Given the description of an element on the screen output the (x, y) to click on. 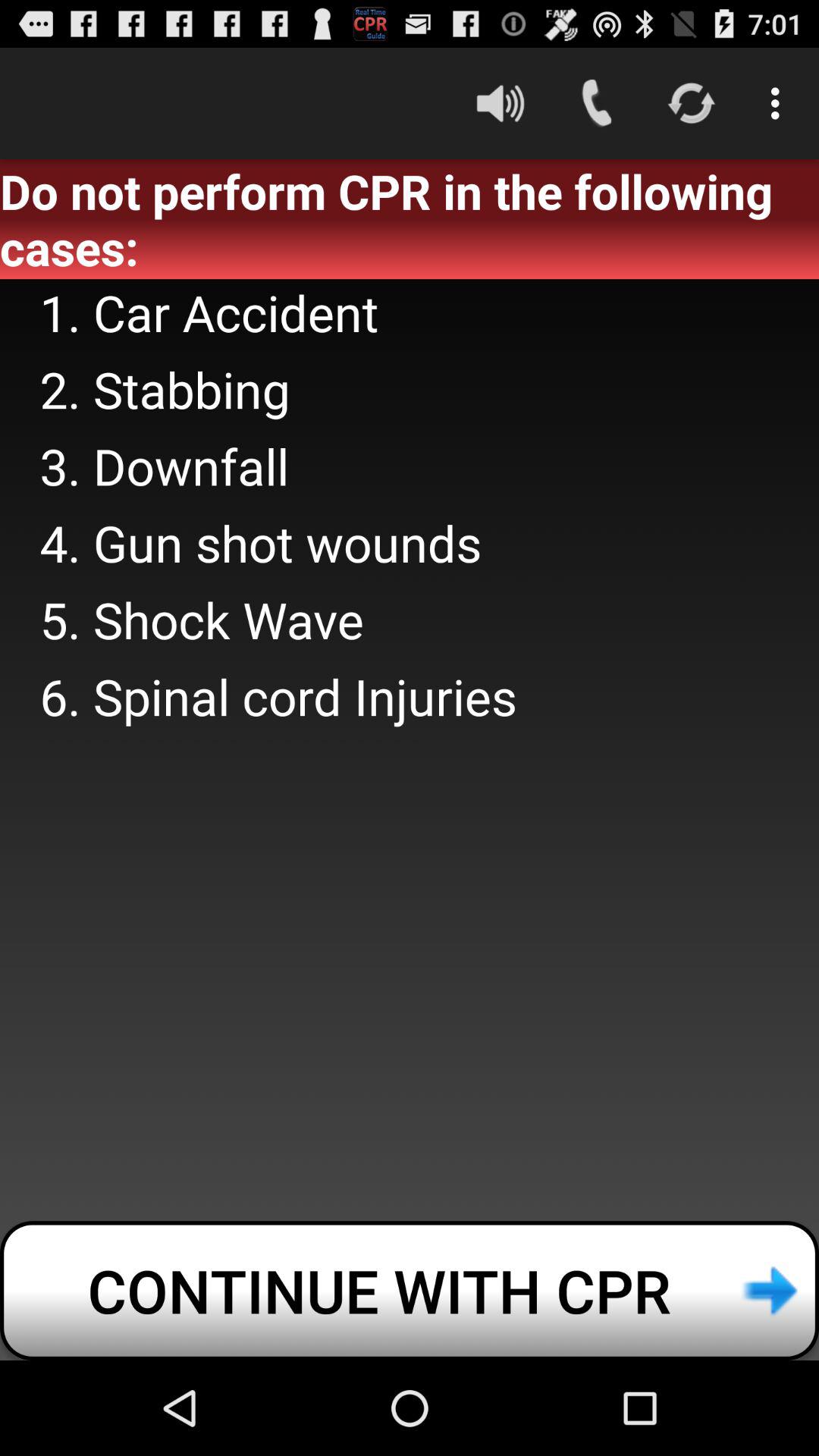
choose the continue with cpr icon (409, 1290)
